Given the description of an element on the screen output the (x, y) to click on. 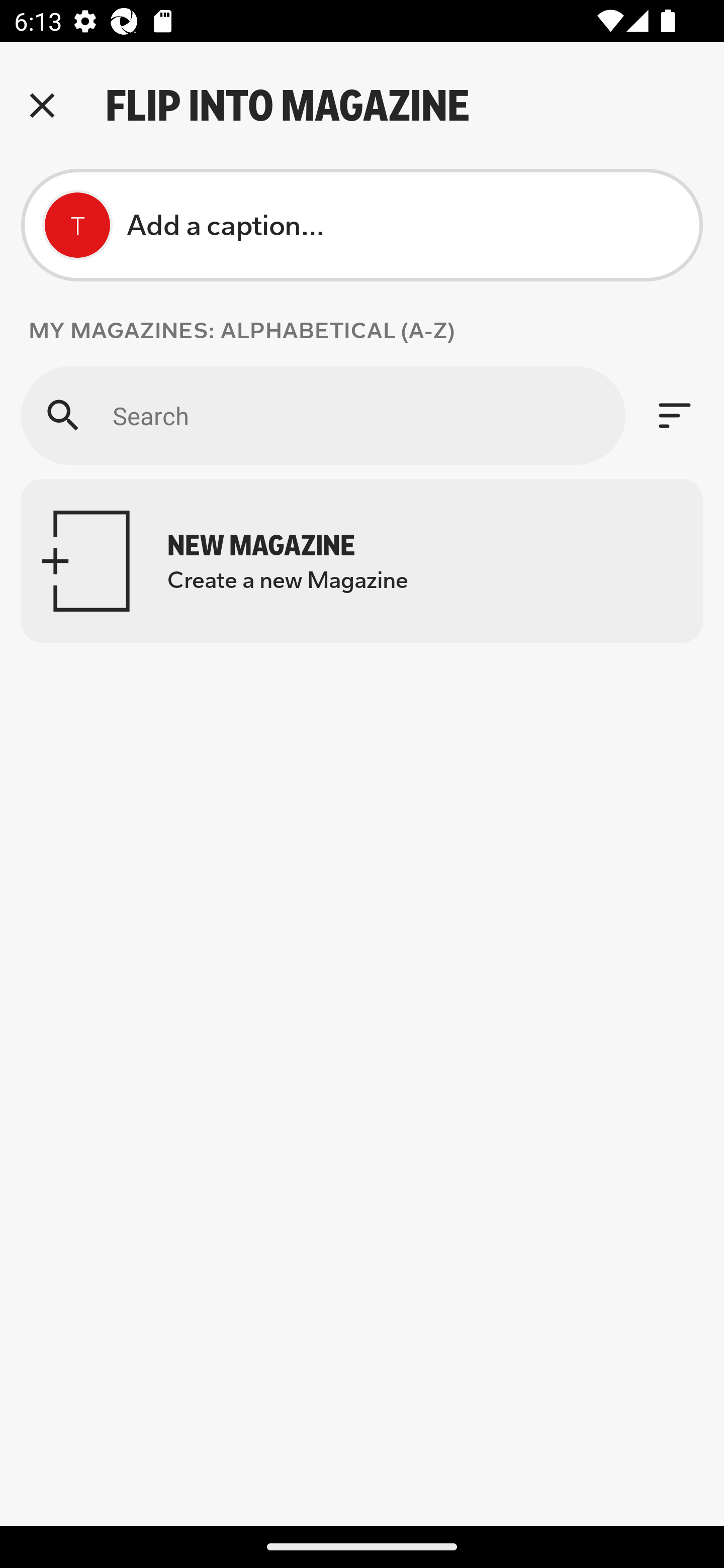
Test Appium Add a caption… (361, 224)
Search (322, 415)
NEW MAGAZINE Create a new Magazine (361, 560)
